Given the description of an element on the screen output the (x, y) to click on. 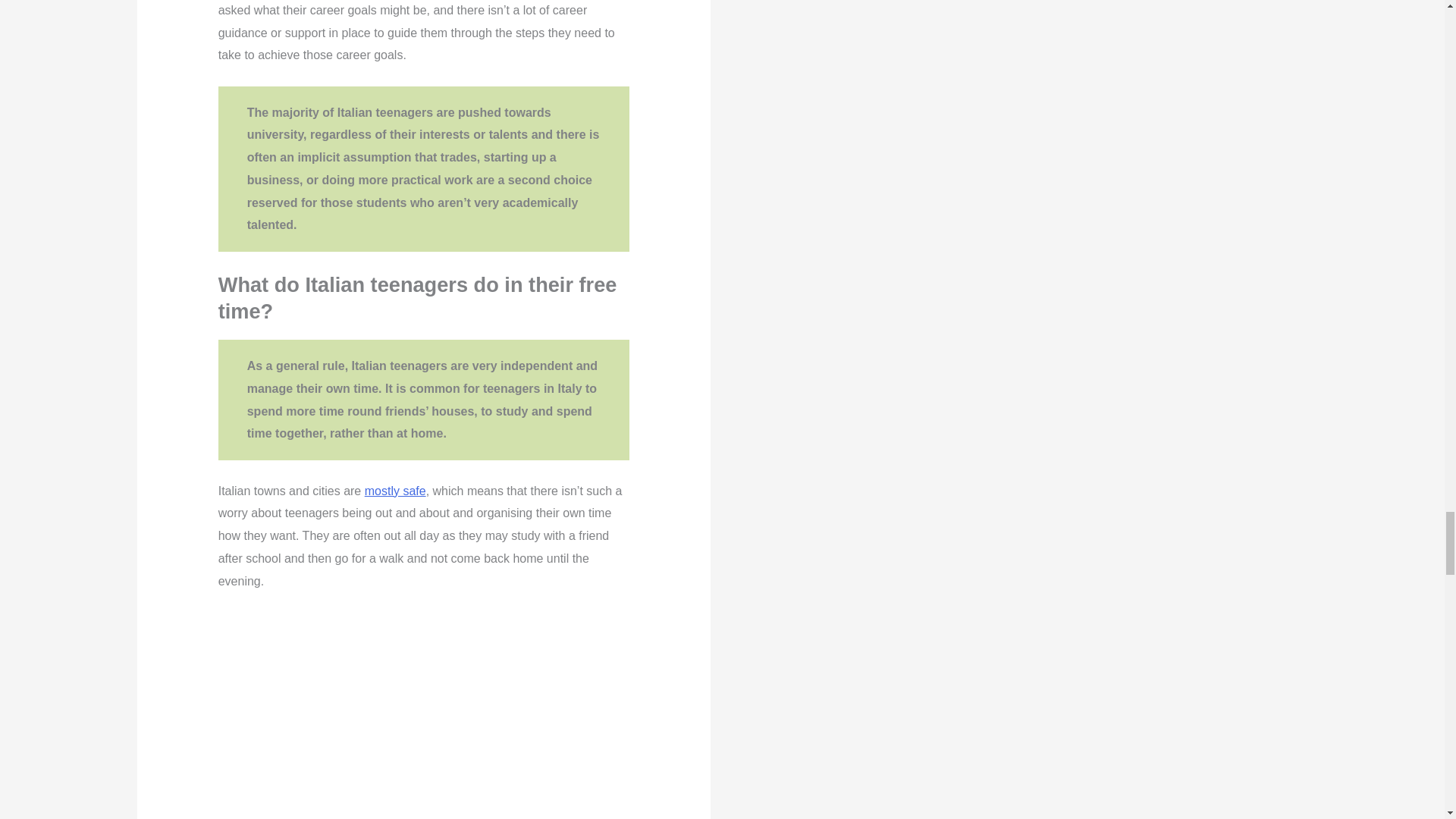
mostly safe (395, 490)
